Given the description of an element on the screen output the (x, y) to click on. 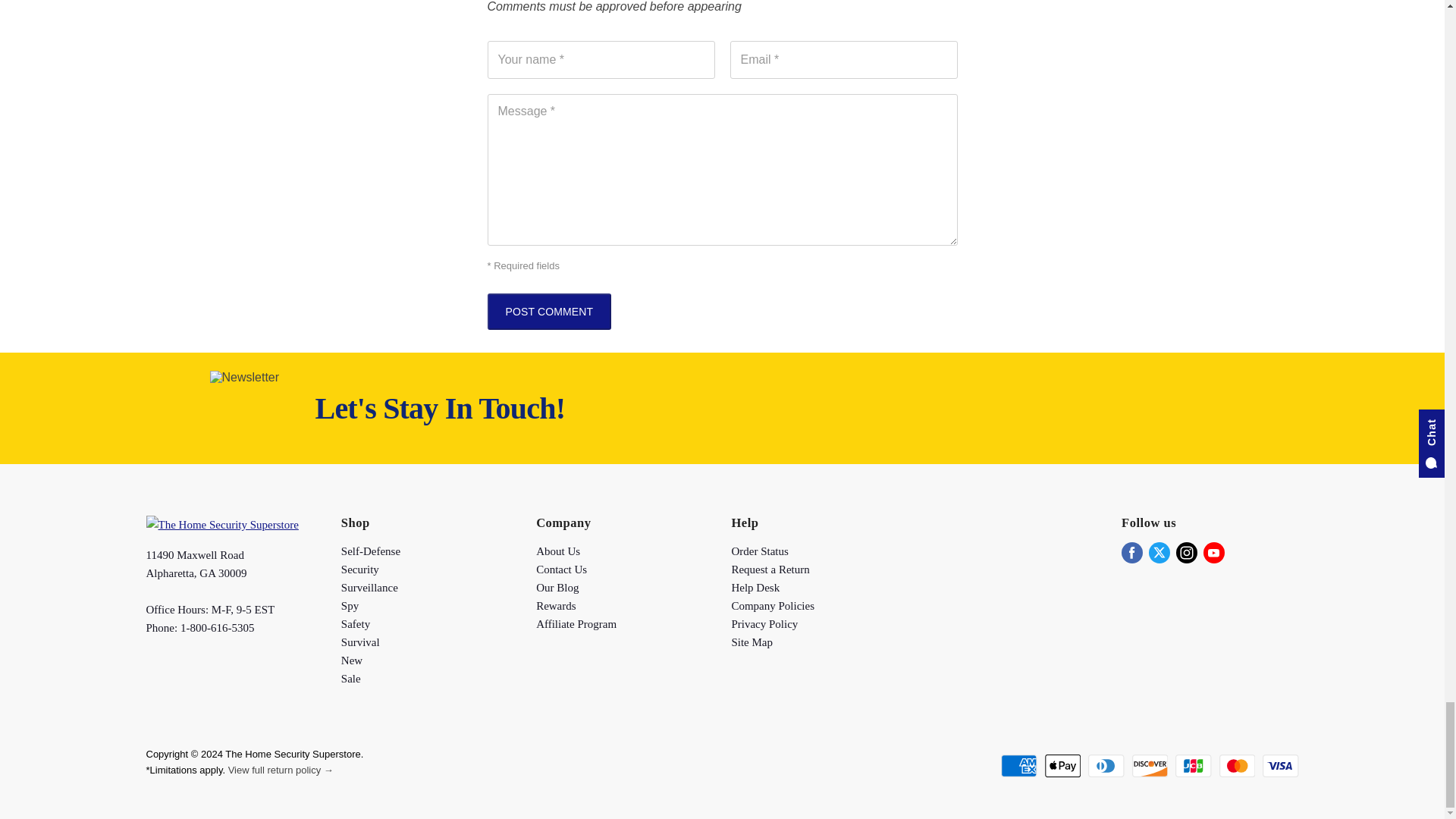
Twitter (1159, 552)
Facebook (1131, 552)
Youtube (1213, 552)
The Home Security Superstore (221, 524)
Instagram (1186, 552)
